Given the description of an element on the screen output the (x, y) to click on. 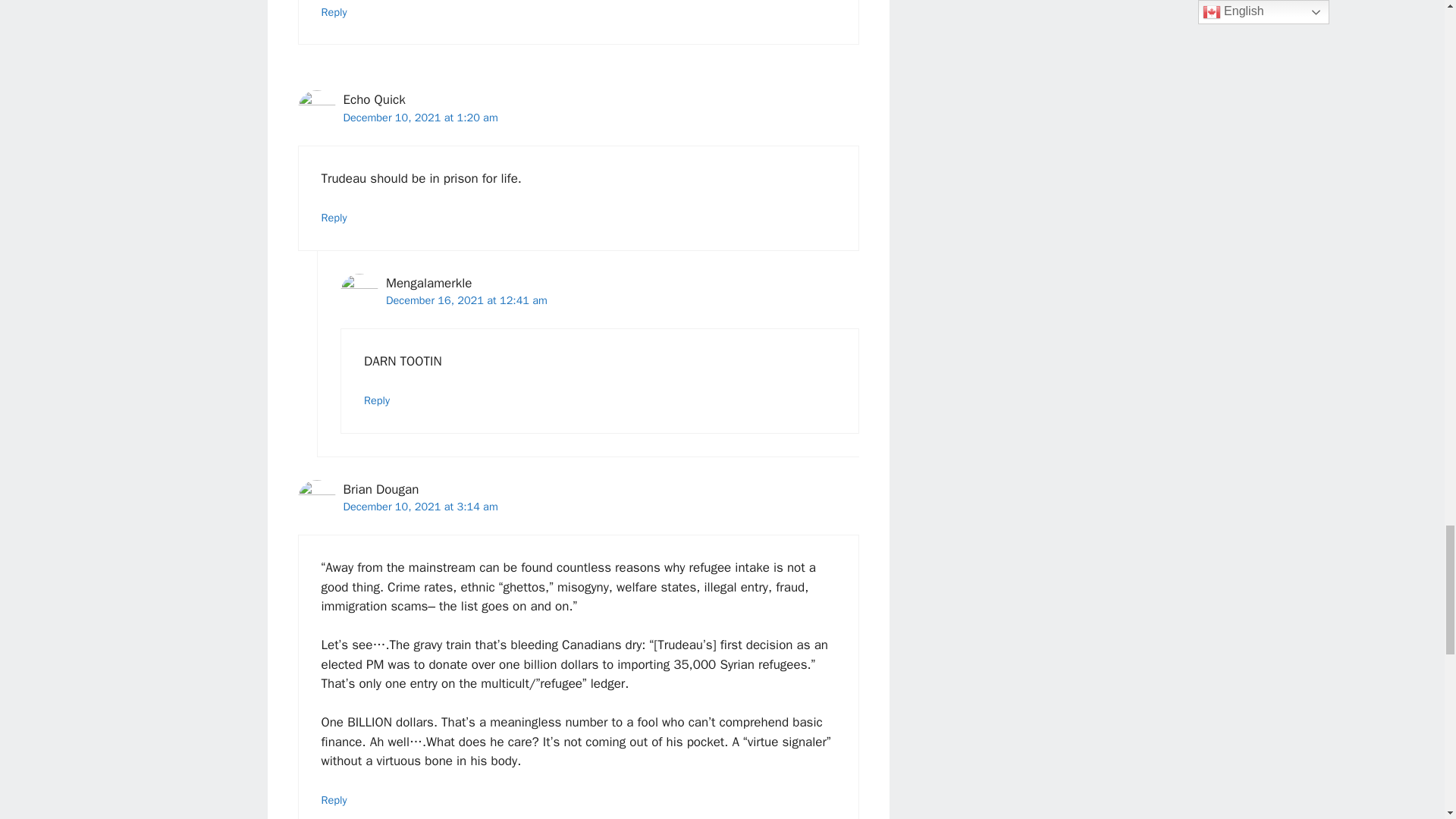
December 10, 2021 at 3:14 am (419, 506)
Reply (334, 11)
Reply (334, 217)
Reply (377, 400)
Reply (334, 799)
December 10, 2021 at 1:20 am (419, 117)
December 16, 2021 at 12:41 am (466, 300)
